Given the description of an element on the screen output the (x, y) to click on. 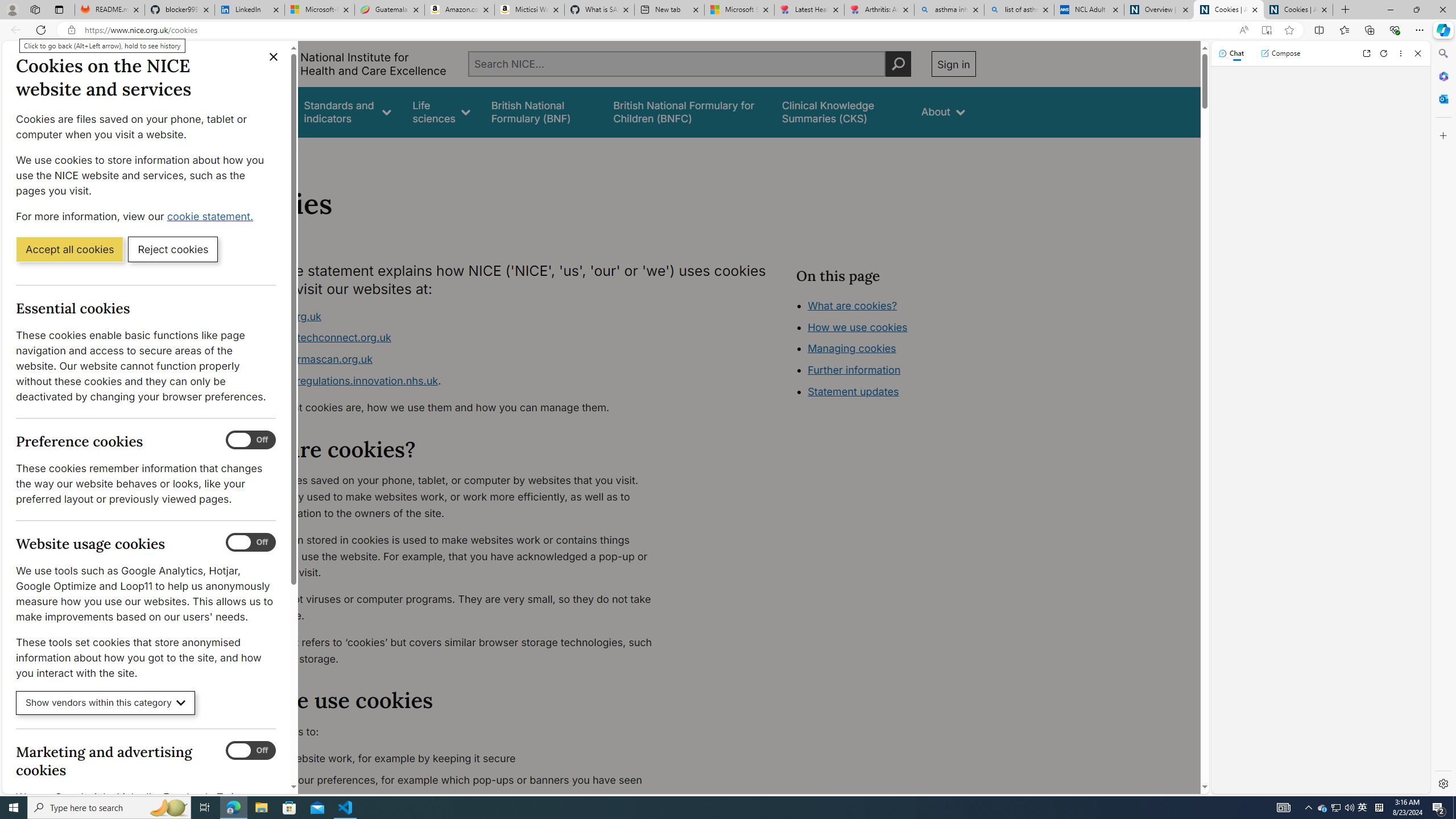
Accept all cookies (69, 248)
cookie statement. (Opens in a new window) (211, 215)
Marketing and advertising cookies (250, 750)
www.nice.org.uk (452, 316)
Statement updates (853, 391)
